Given the description of an element on the screen output the (x, y) to click on. 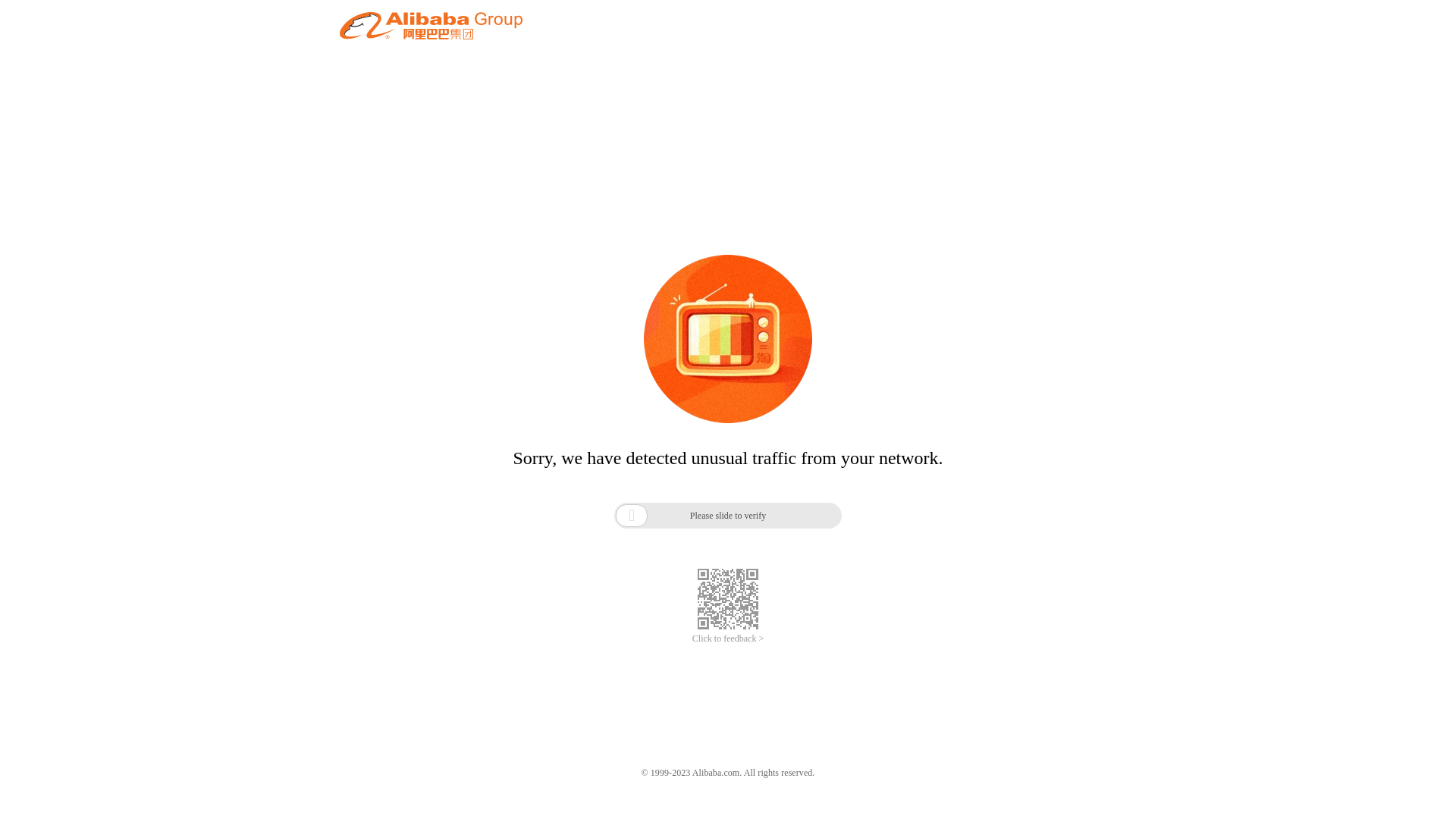
Click to feedback > Element type: text (727, 638)
